Given the description of an element on the screen output the (x, y) to click on. 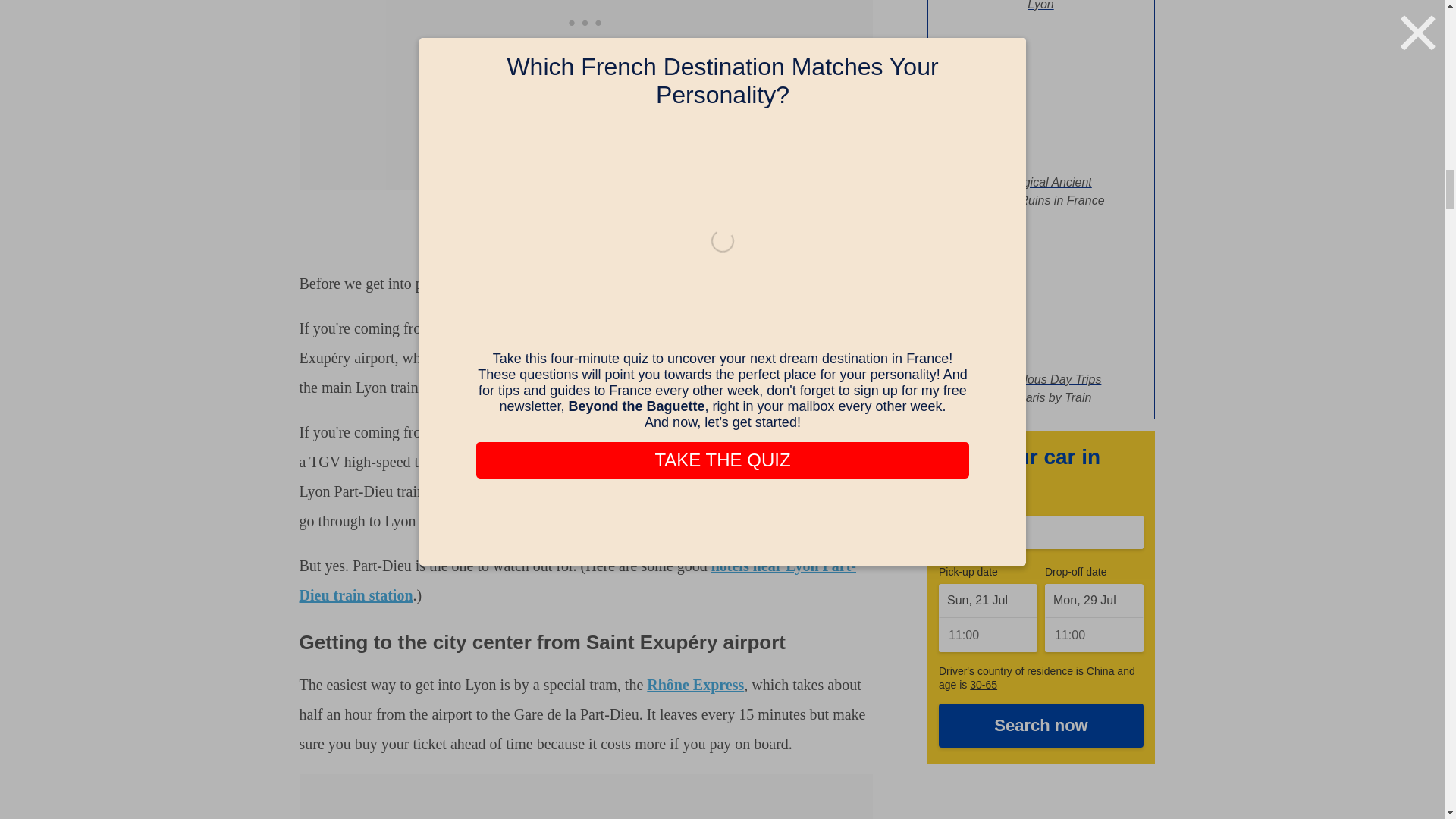
Go to 15 Magical Ancient Roman Ruins in France (1041, 184)
Roman ruins thumbnail (1041, 96)
